Given the description of an element on the screen output the (x, y) to click on. 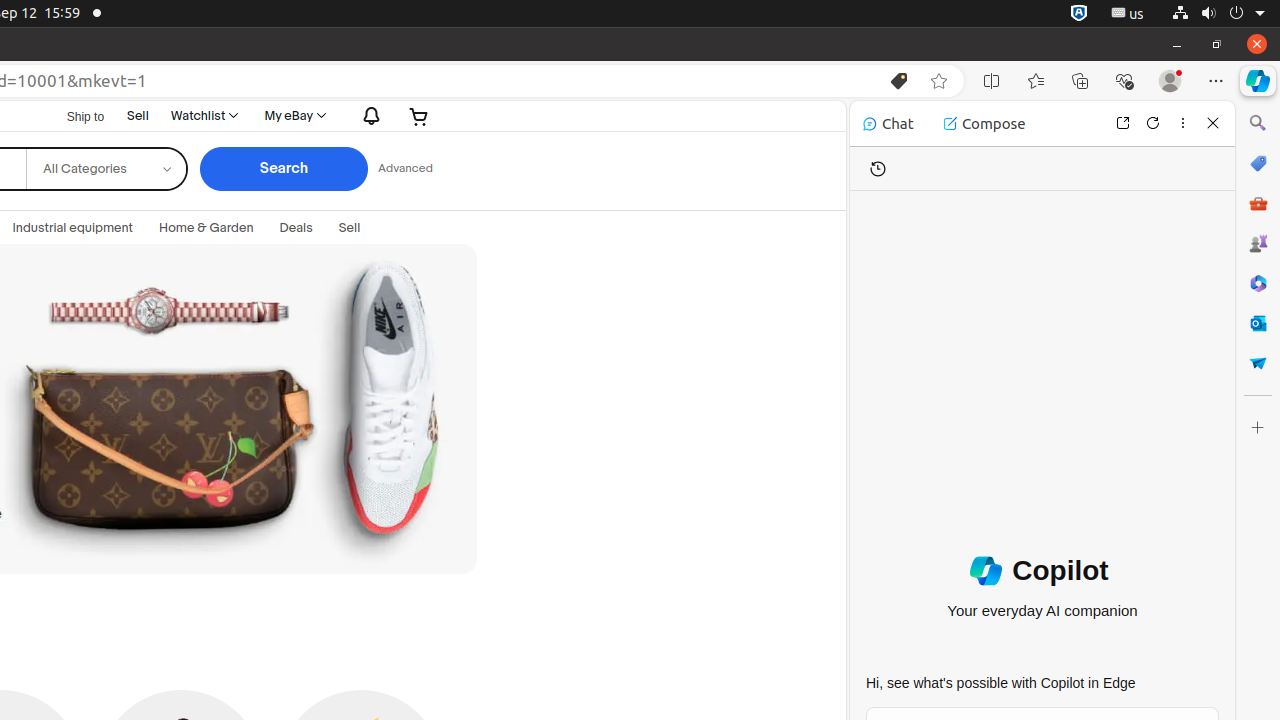
System Element type: menu (1218, 13)
Microsoft Shopping Element type: push-button (1258, 163)
Sell Element type: link (138, 115)
Add this page to favorites (Ctrl+D) Element type: push-button (939, 81)
Ship to Element type: push-button (73, 117)
